Given the description of an element on the screen output the (x, y) to click on. 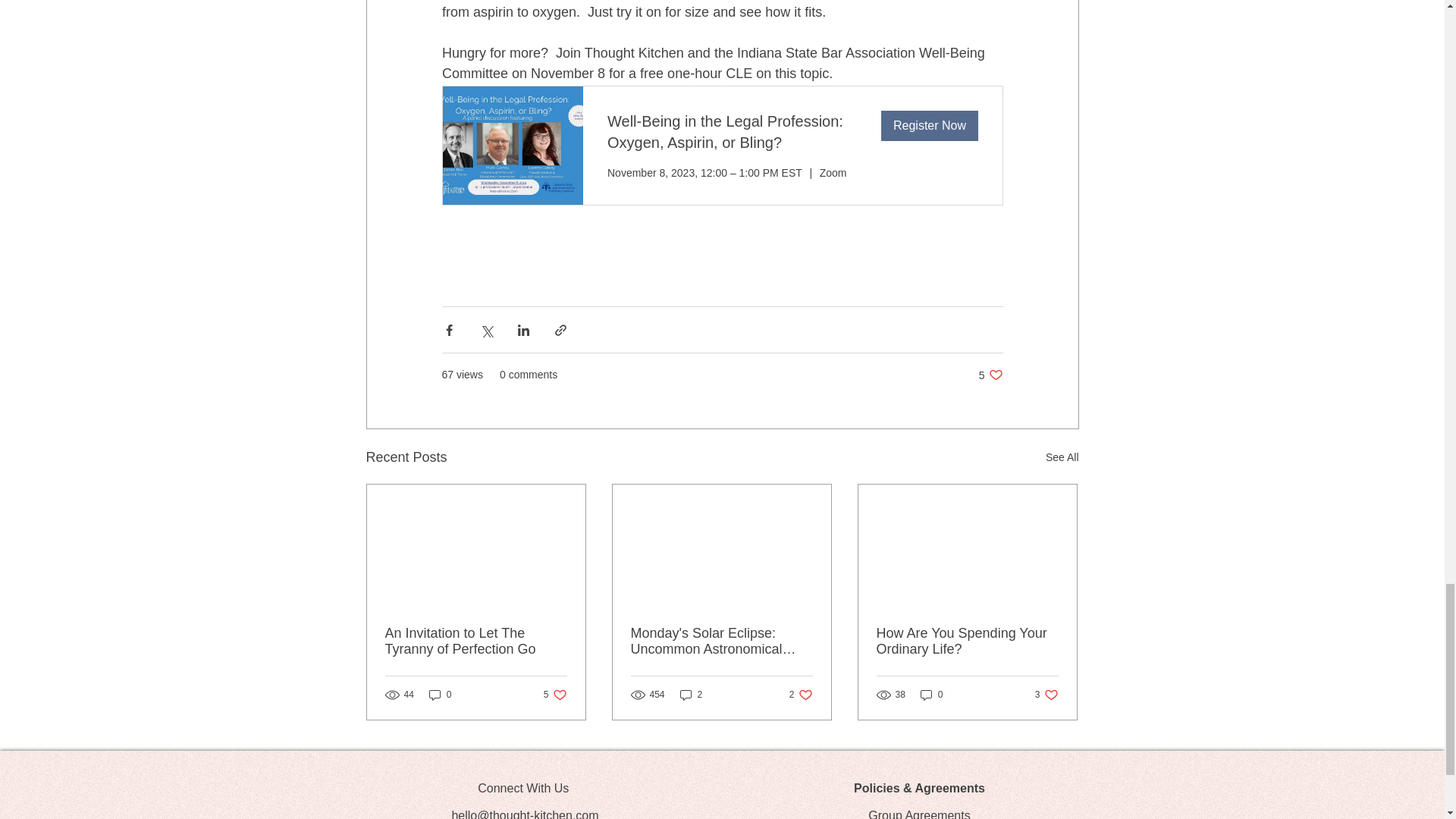
0 (1046, 694)
2 (990, 374)
See All (440, 694)
How Are You Spending Your Ordinary Life? (800, 694)
0 (555, 694)
An Invitation to Let The Tyranny of Perfection Go (691, 694)
